Given the description of an element on the screen output the (x, y) to click on. 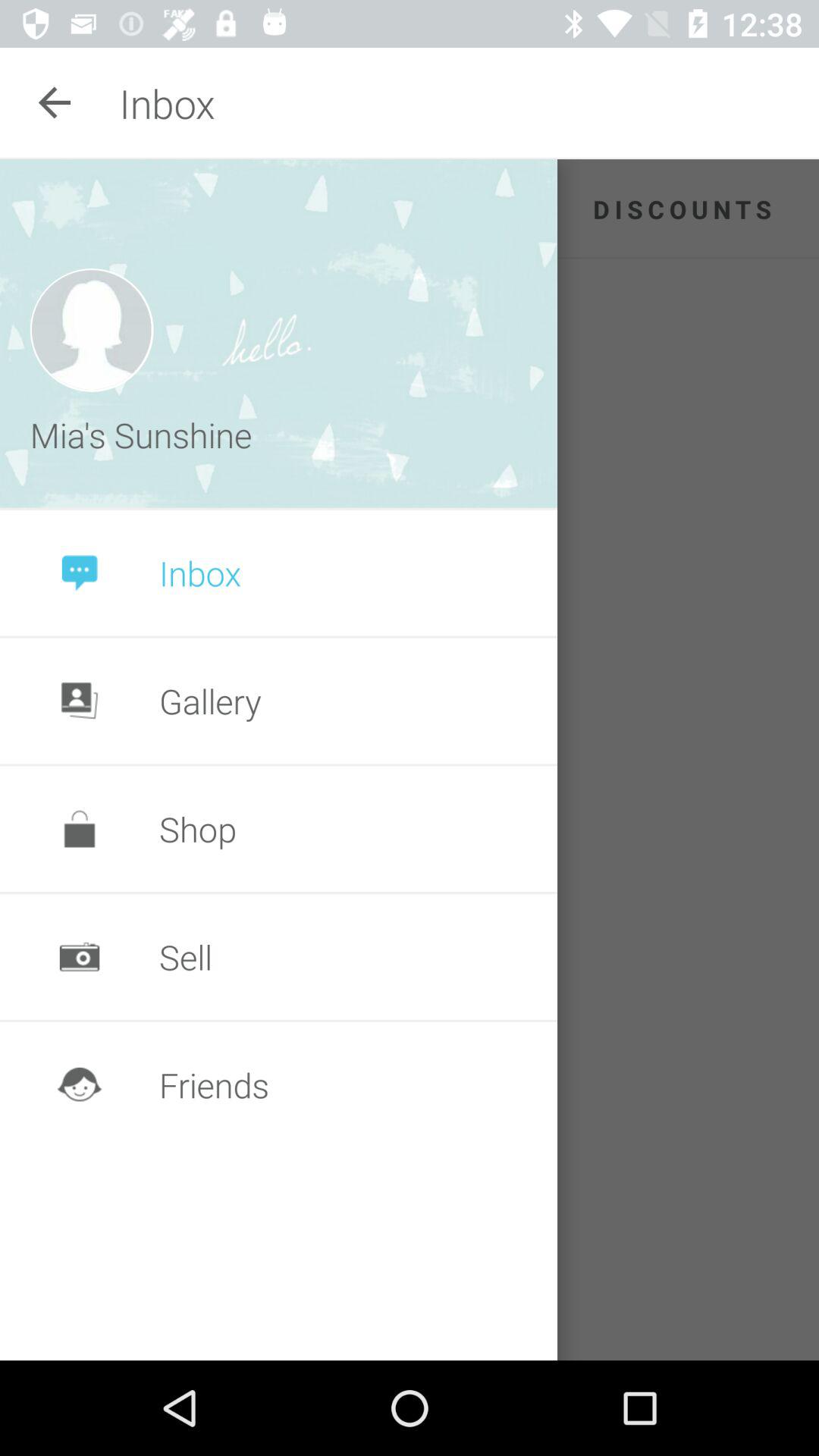
choose the mia's sunshine  icon (145, 434)
